Given the description of an element on the screen output the (x, y) to click on. 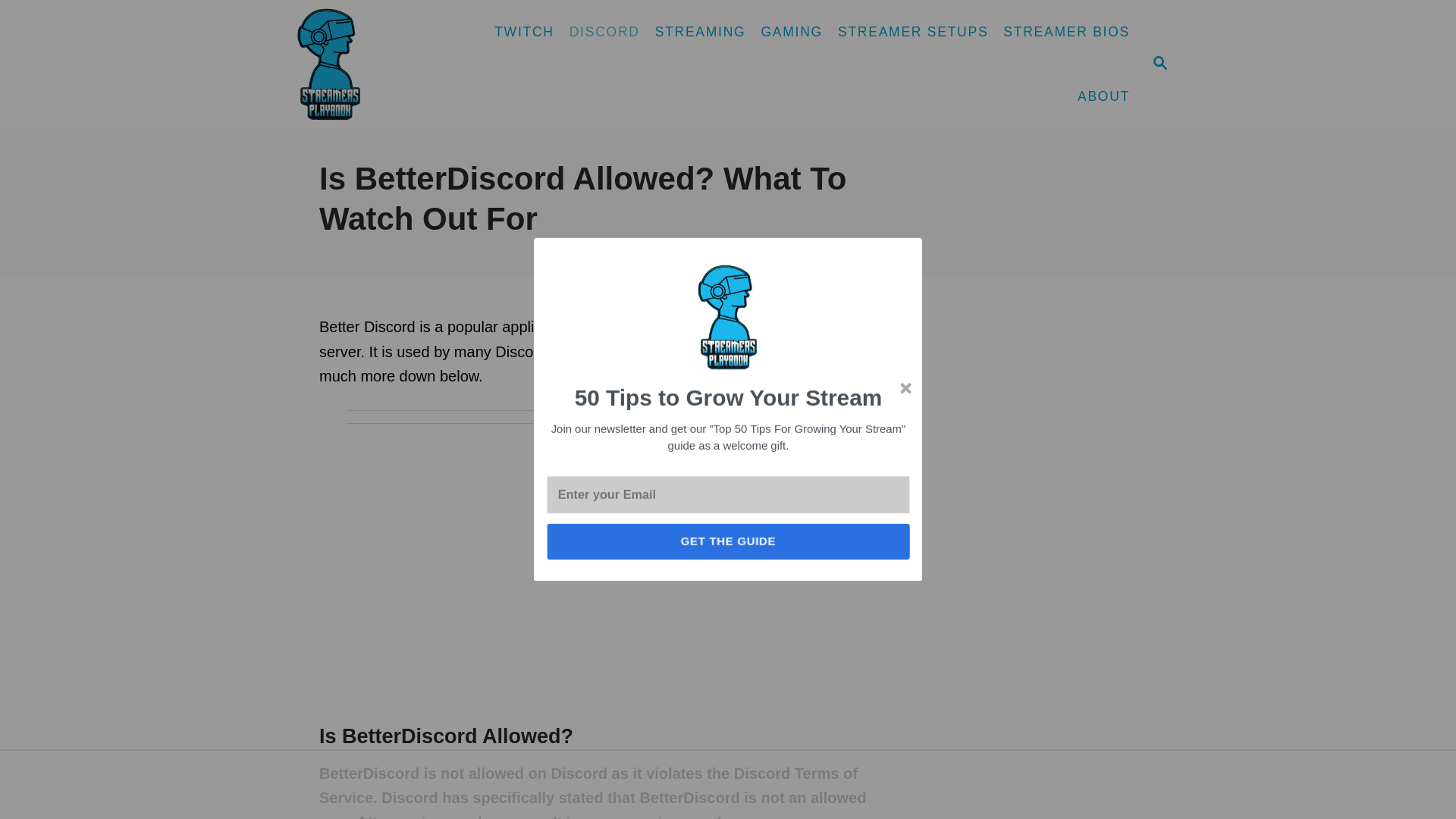
Streamers Playbook (377, 64)
MAGNIFYING GLASS (1160, 62)
STREAMING (700, 32)
STREAMER BIOS (1066, 32)
GET THE GUIDE (741, 542)
GAMING (790, 32)
TWITCH (1159, 63)
DISCORD (524, 32)
STREAMER SETUPS (604, 32)
ABOUT (912, 32)
